Given the description of an element on the screen output the (x, y) to click on. 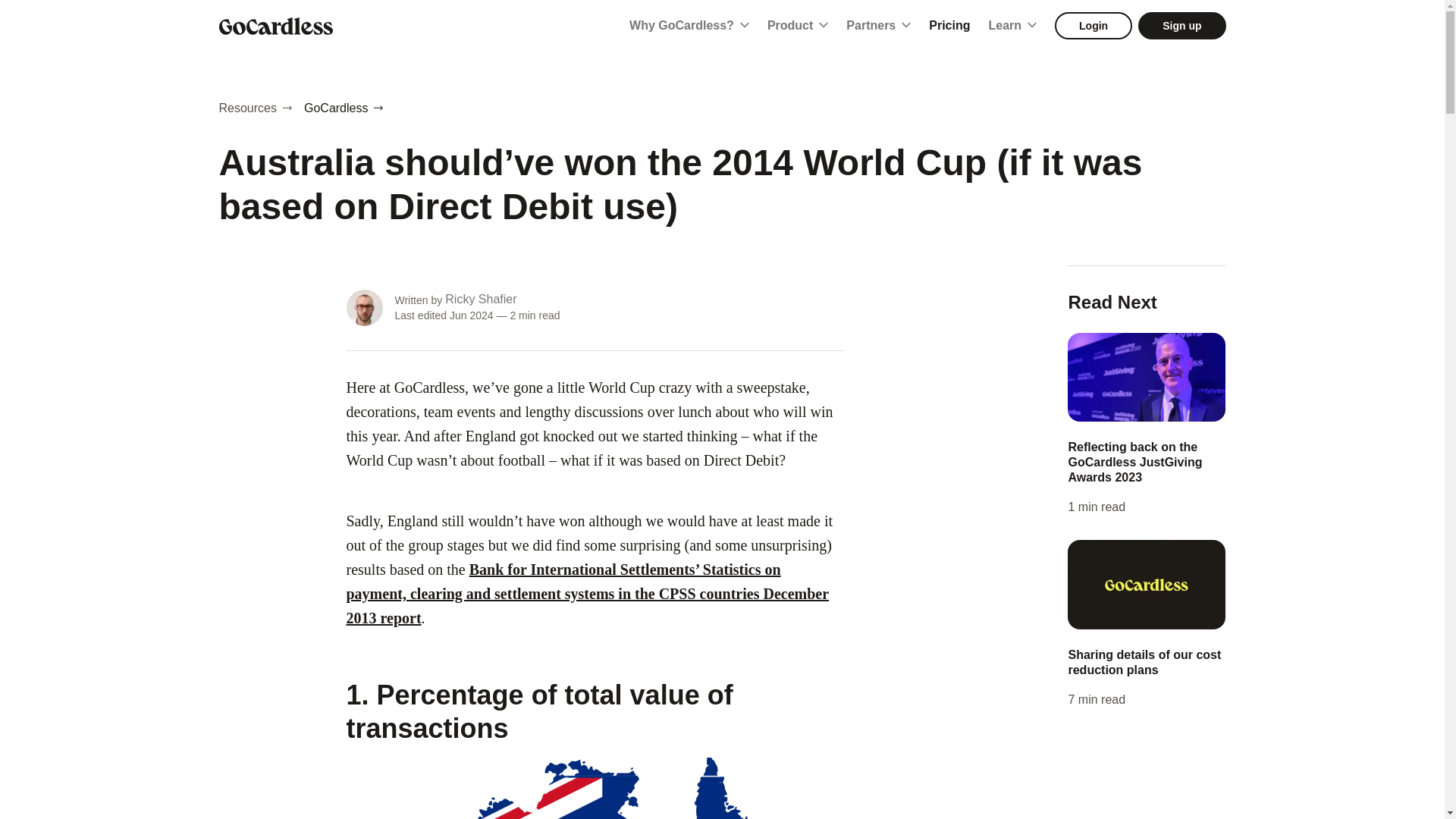
Why GoCardless? (688, 25)
Product (797, 25)
